Given the description of an element on the screen output the (x, y) to click on. 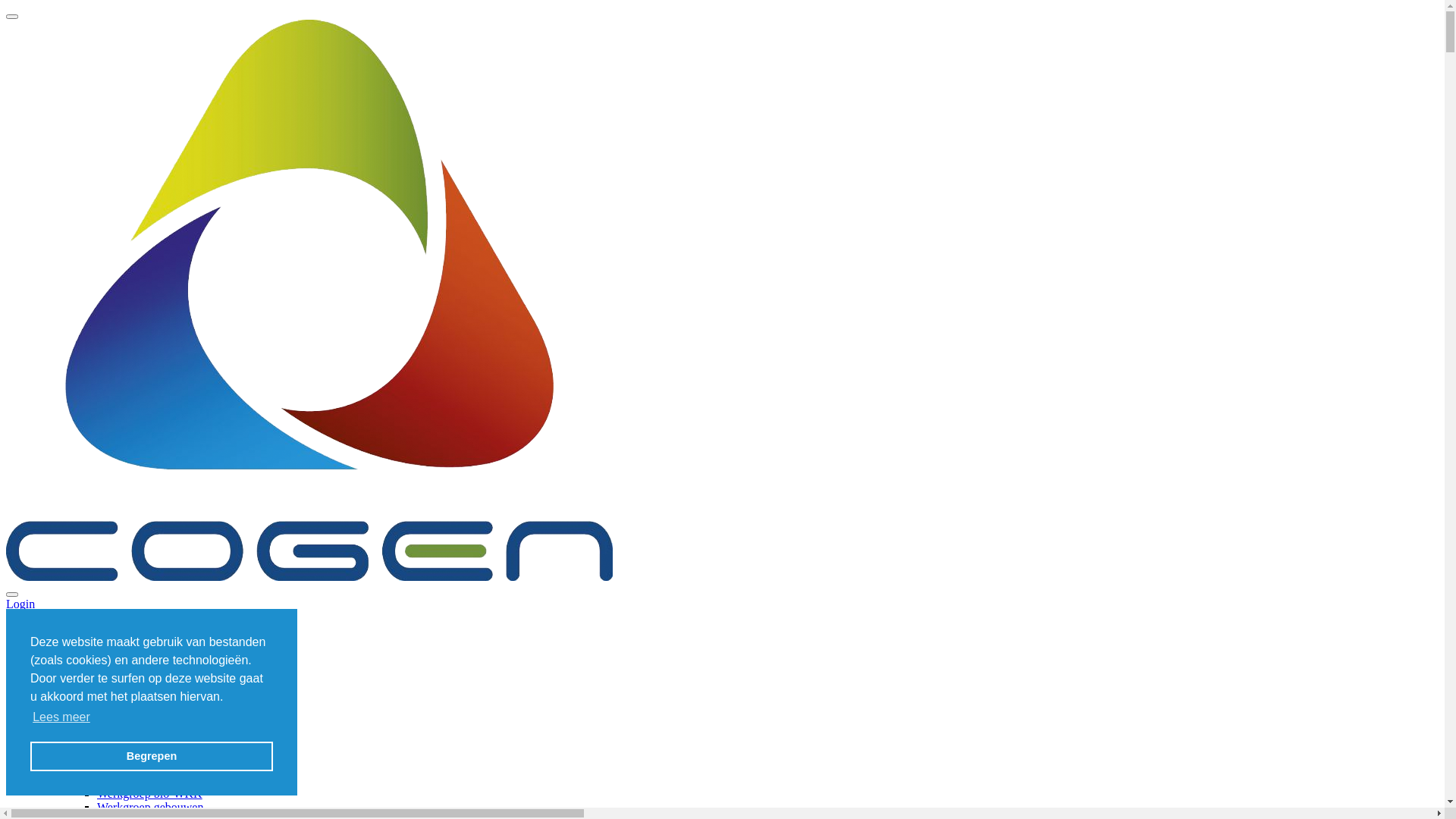
Toggle submenu Element type: text (145, 656)
Werkgroep bio-WKK Element type: text (149, 793)
Lidmaatschap Element type: text (131, 711)
Toggle submenu Element type: text (169, 670)
Login Element type: text (20, 603)
WKK-platform Element type: text (134, 779)
Wat we doen Element type: text (97, 670)
Missie & visie Element type: text (132, 683)
Toggle submenu Element type: text (146, 765)
Ledenpagina Element type: text (128, 752)
Overleg Element type: text (86, 765)
Home Element type: text (50, 643)
Leden Element type: text (81, 697)
Ledenlijst Element type: text (121, 738)
Lees meer Element type: text (61, 717)
Toggle submenu Element type: text (137, 697)
Werkgroep gebouwen Element type: text (150, 806)
Begrepen Element type: text (151, 756)
Menu Element type: text (20, 617)
Bedrijvengids Element type: text (131, 724)
Over COGEN Element type: text (70, 656)
